Given the description of an element on the screen output the (x, y) to click on. 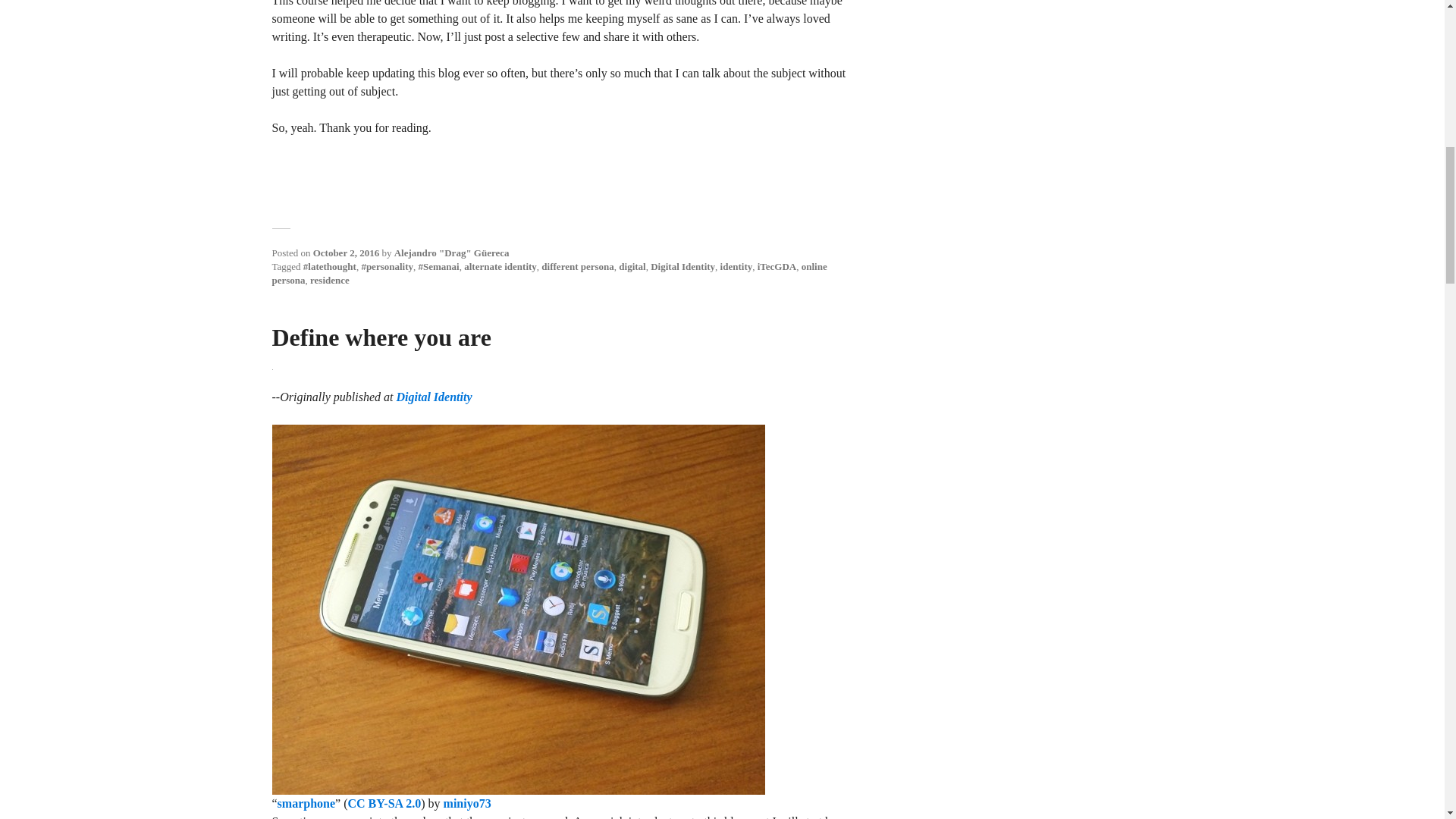
digital (631, 266)
Digital Identity (682, 266)
October 2, 2016 (346, 252)
different persona (576, 266)
alternate identity (500, 266)
